Given the description of an element on the screen output the (x, y) to click on. 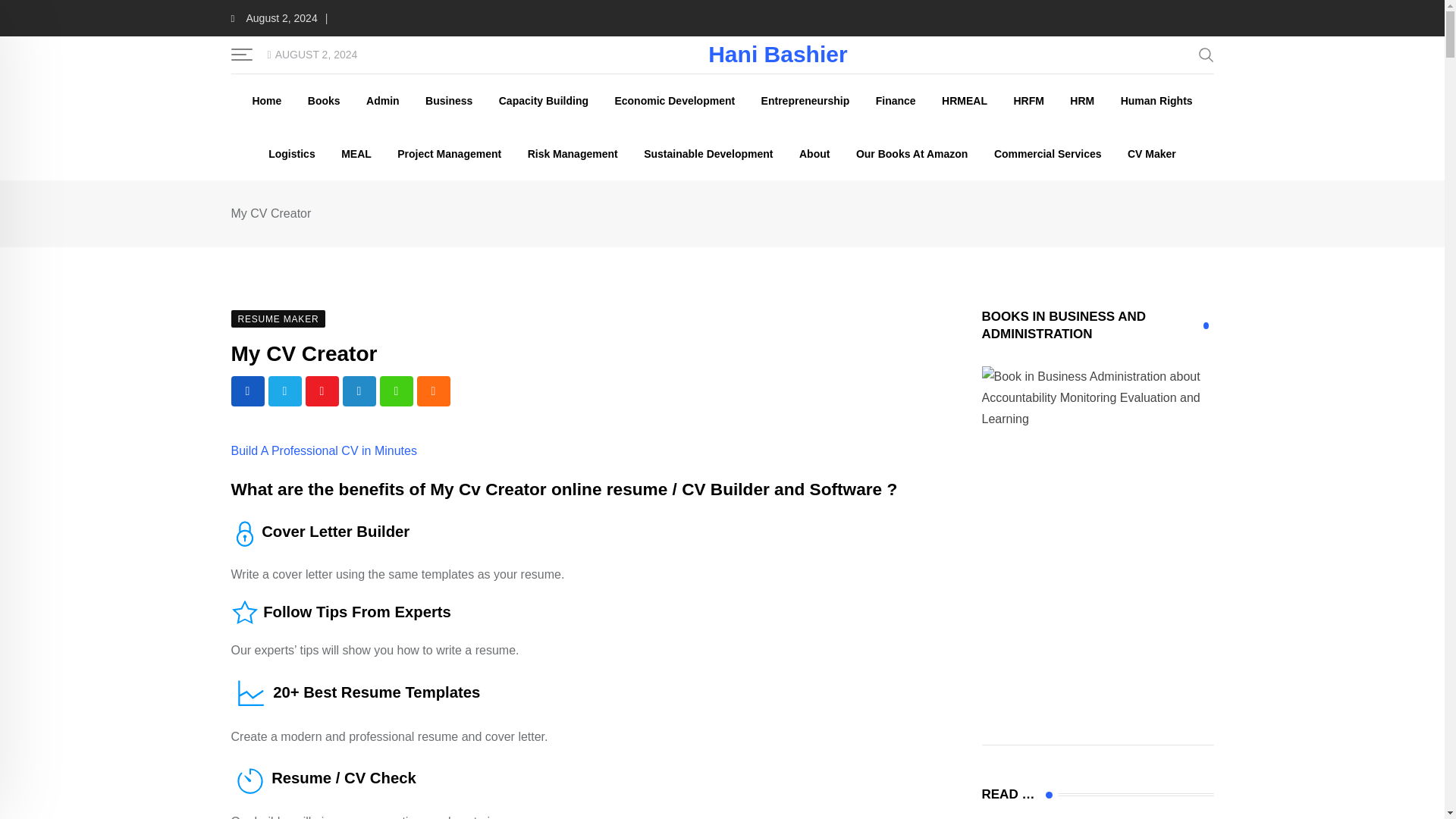
MEAL (356, 153)
Books (324, 100)
Hani Bashier (777, 54)
Entrepreneurship (805, 100)
HRFM (1027, 100)
Capacity Building (543, 100)
Economic Development (673, 100)
Human Rights (1156, 100)
CV Maker (1152, 153)
Commercial Services (1047, 153)
